Given the description of an element on the screen output the (x, y) to click on. 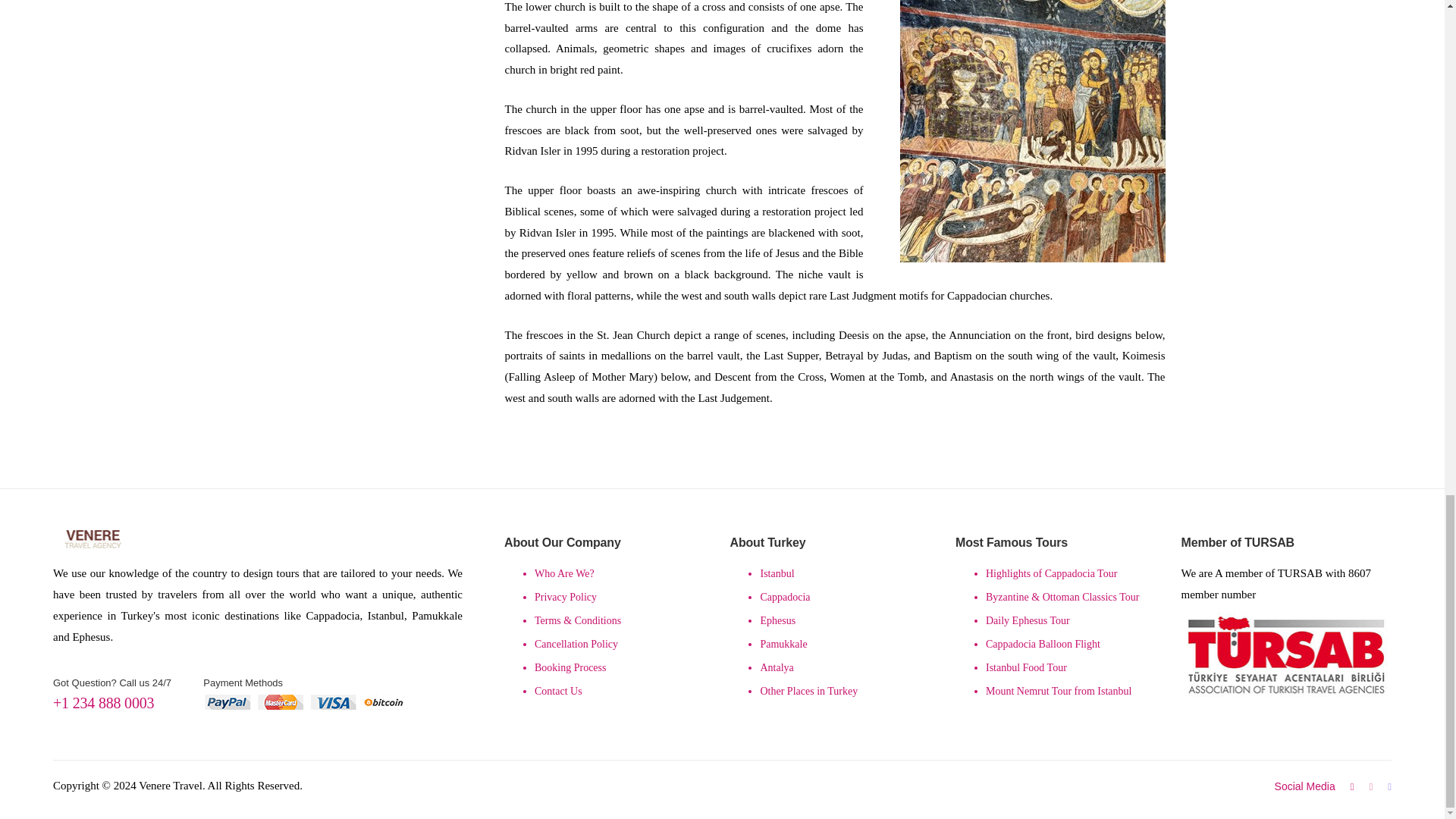
Cappadocia and Turkey Tours (92, 538)
Gulsehir - St. Jean Church (1031, 131)
We are A member of TURSAB with 8607 member number (1285, 654)
